Given the description of an element on the screen output the (x, y) to click on. 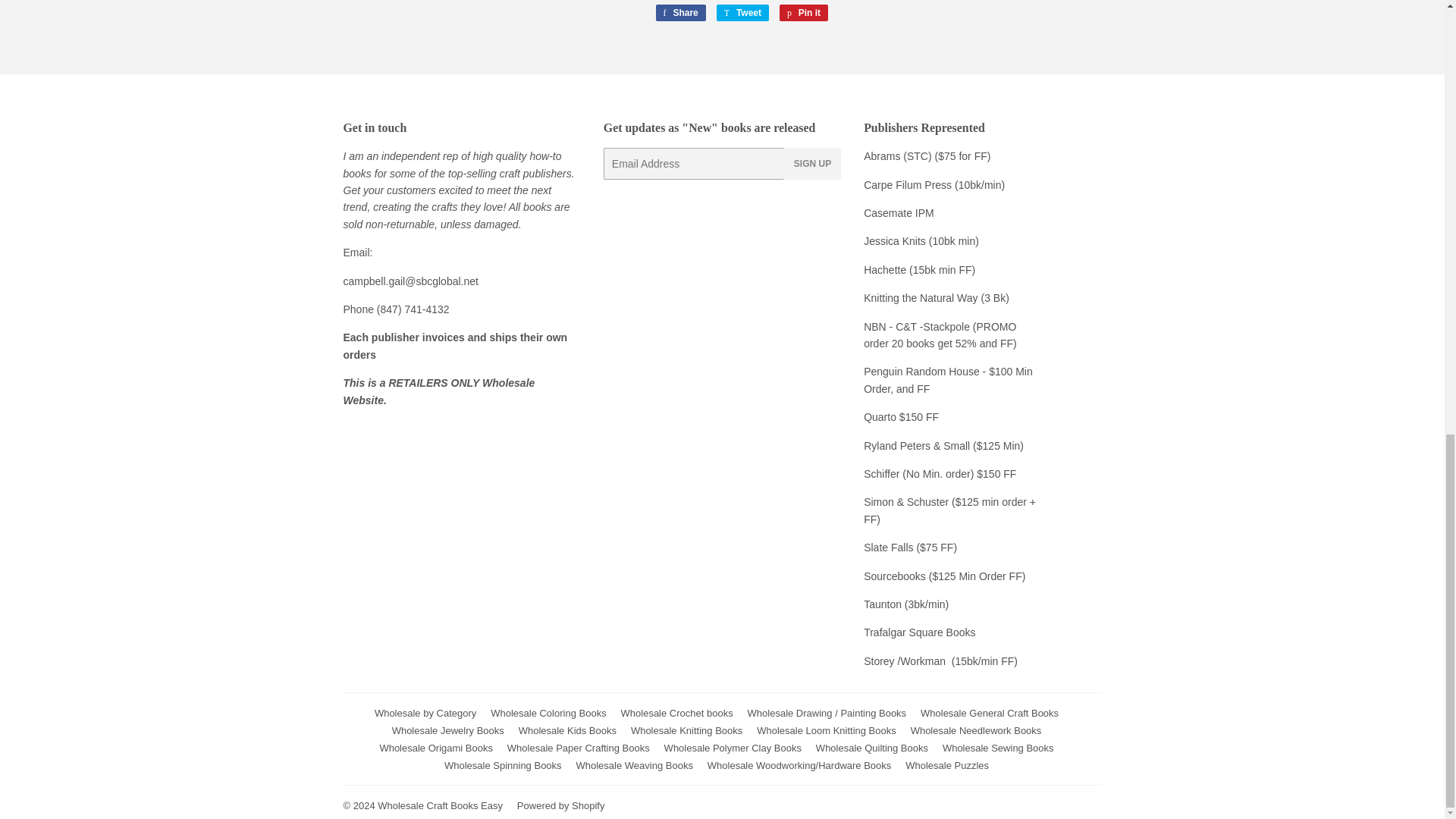
Knitting the Natural Way (919, 297)
Knitting the Natural Way (679, 12)
Pin on Pinterest (919, 297)
Share on Facebook (803, 12)
Carpe Filum Press (803, 12)
Sourcebooks (679, 12)
Casemate IPM (907, 184)
Schiffer (944, 576)
Penguin Random House (898, 213)
SIGN UP (882, 473)
Quarto (921, 371)
Tweet on Twitter (812, 163)
